Given the description of an element on the screen output the (x, y) to click on. 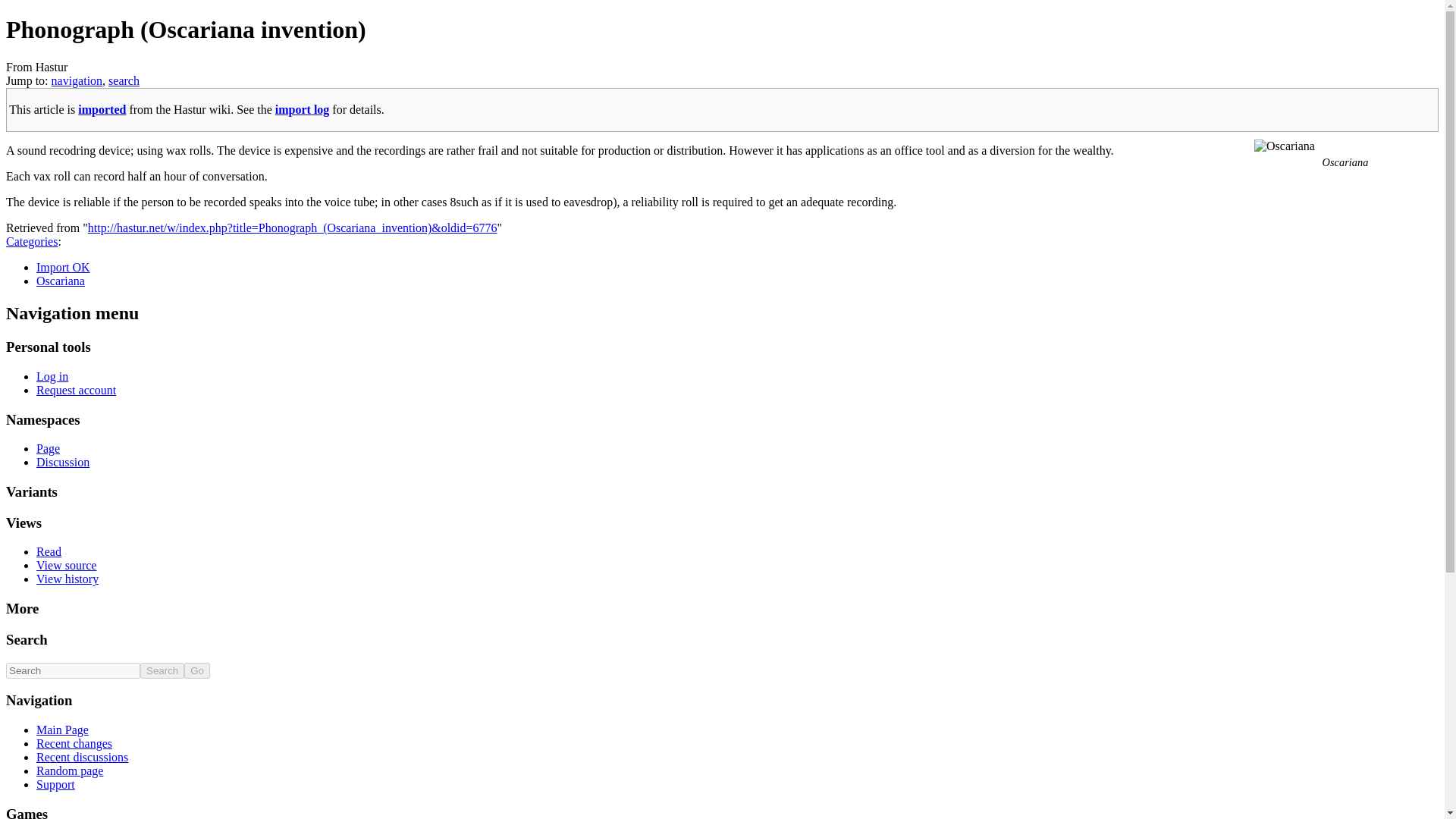
Search (161, 670)
Recent discussions (82, 757)
Random page (69, 770)
Go to a page with this exact name if it exists (196, 670)
Discussion (62, 461)
Support (55, 784)
Recent changes (74, 743)
navigation (76, 80)
Go (196, 670)
imported (101, 109)
